Given the description of an element on the screen output the (x, y) to click on. 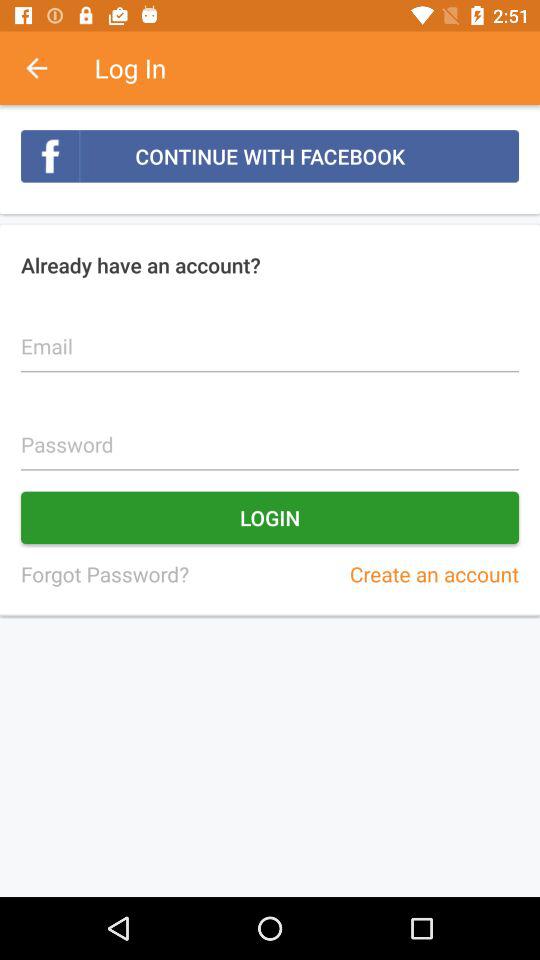
go back (47, 68)
